Given the description of an element on the screen output the (x, y) to click on. 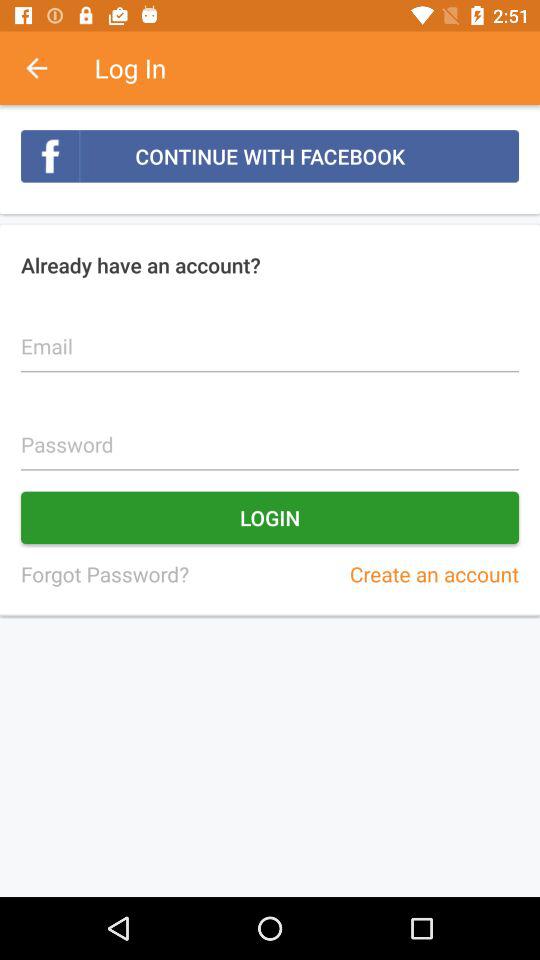
go back (47, 68)
